Given the description of an element on the screen output the (x, y) to click on. 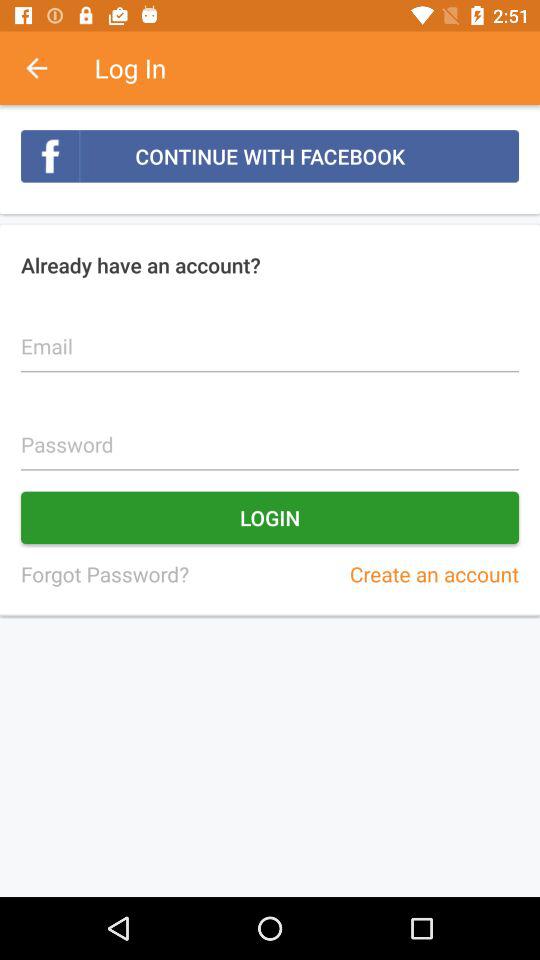
go back (47, 68)
